Given the description of an element on the screen output the (x, y) to click on. 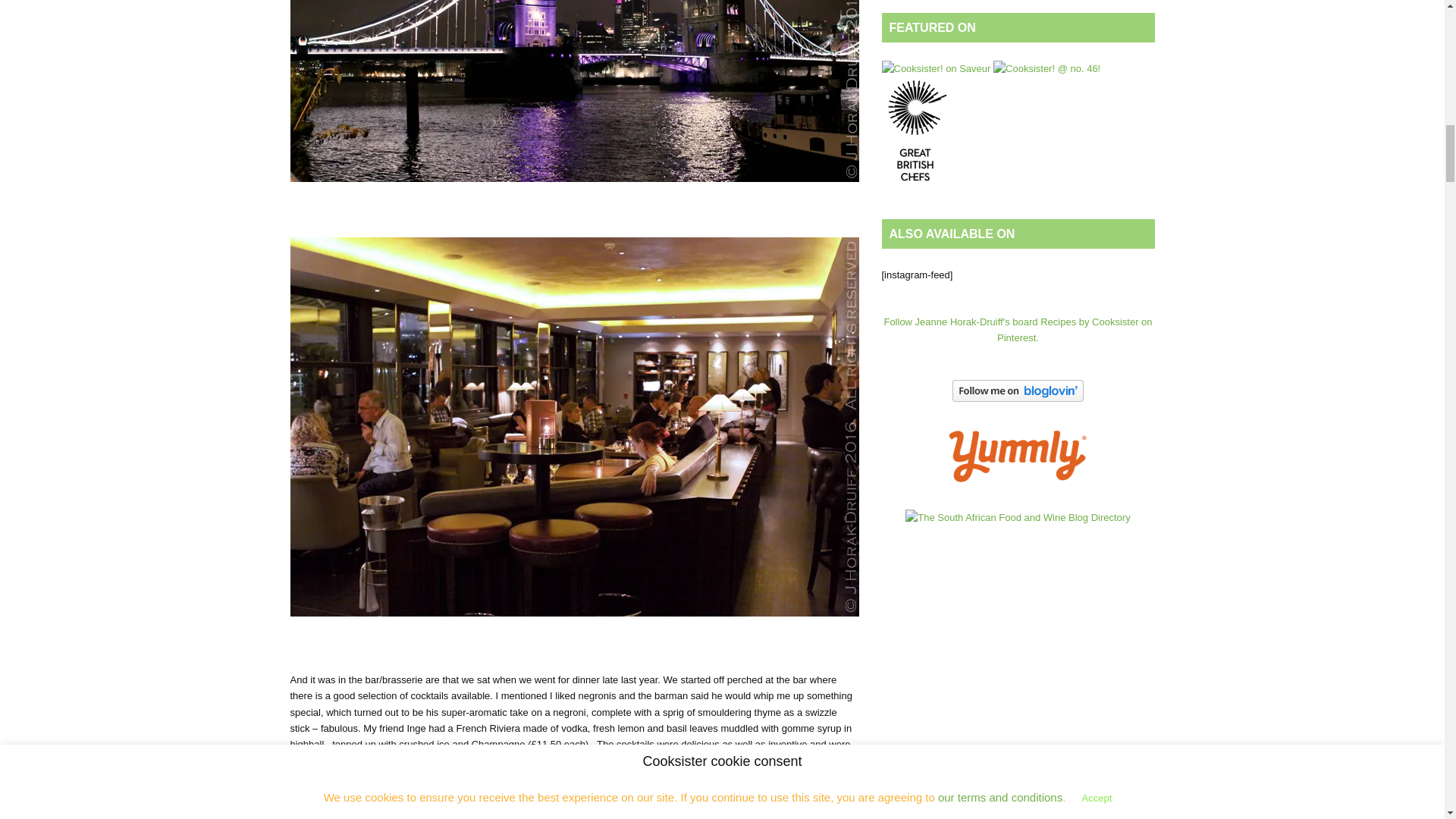
Cooksister! on Saveur (935, 68)
